Given the description of an element on the screen output the (x, y) to click on. 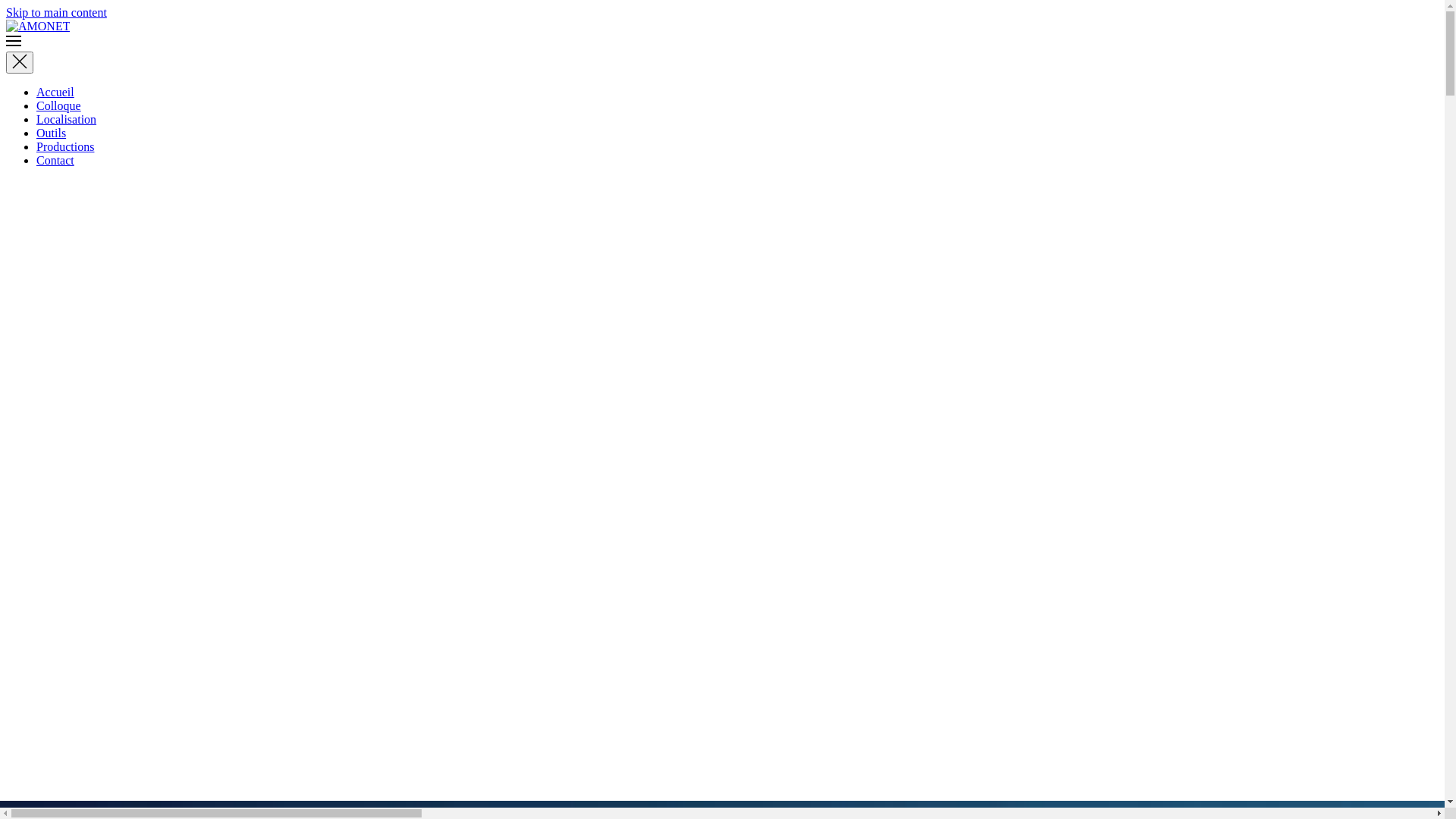
Productions Element type: text (65, 146)
Localisation Element type: text (66, 118)
Outils Element type: text (50, 132)
Accueil Element type: text (55, 91)
Skip to main content Element type: text (56, 12)
Contact Element type: text (55, 159)
Colloque Element type: text (58, 105)
